Given the description of an element on the screen output the (x, y) to click on. 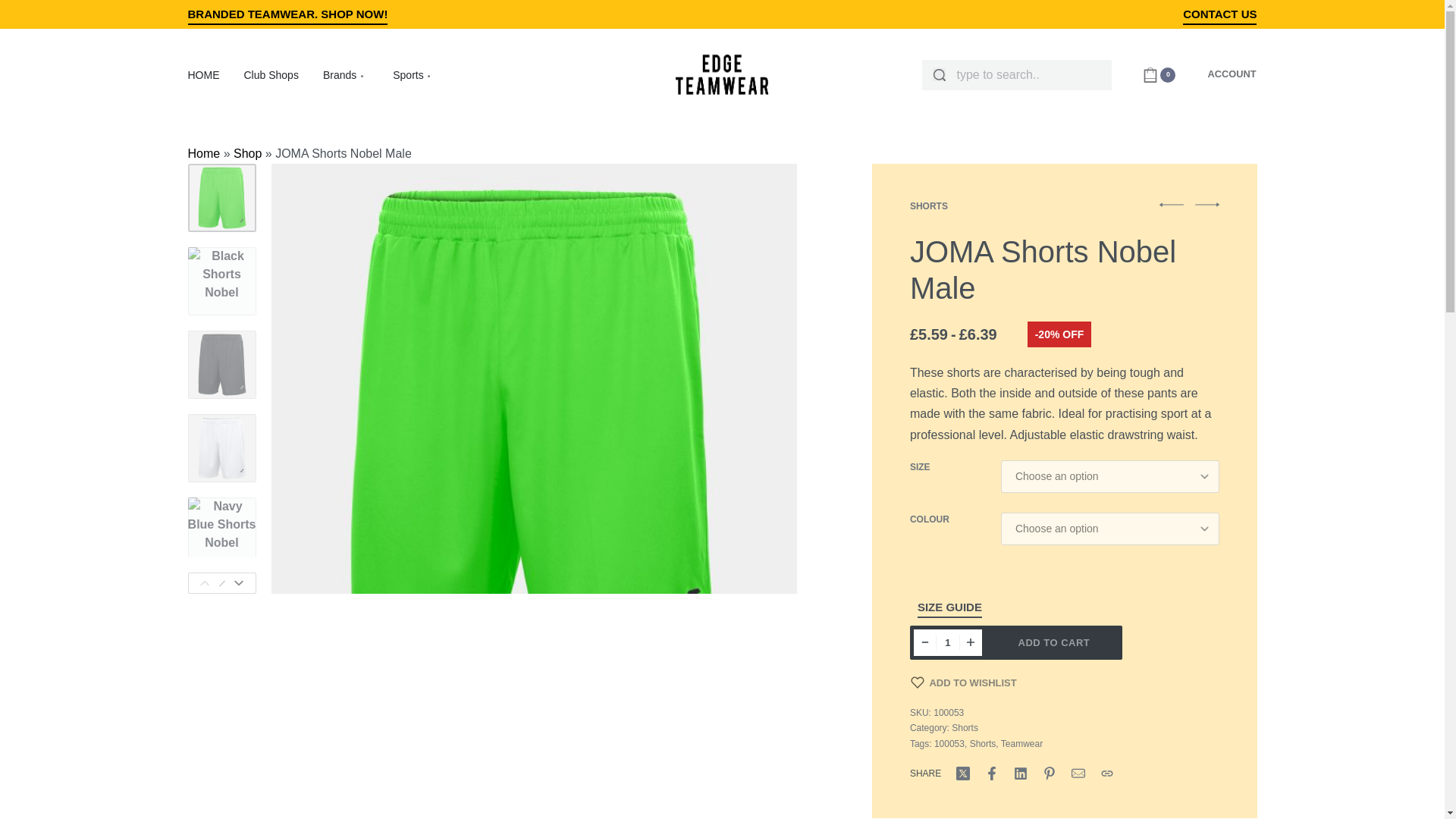
1 (947, 642)
Brands (345, 75)
Club Shops (271, 75)
HOME (203, 75)
Sports (414, 75)
CONTACT US (1219, 16)
BRANDED TEAMWEAR. SHOP NOW! (287, 16)
